Given the description of an element on the screen output the (x, y) to click on. 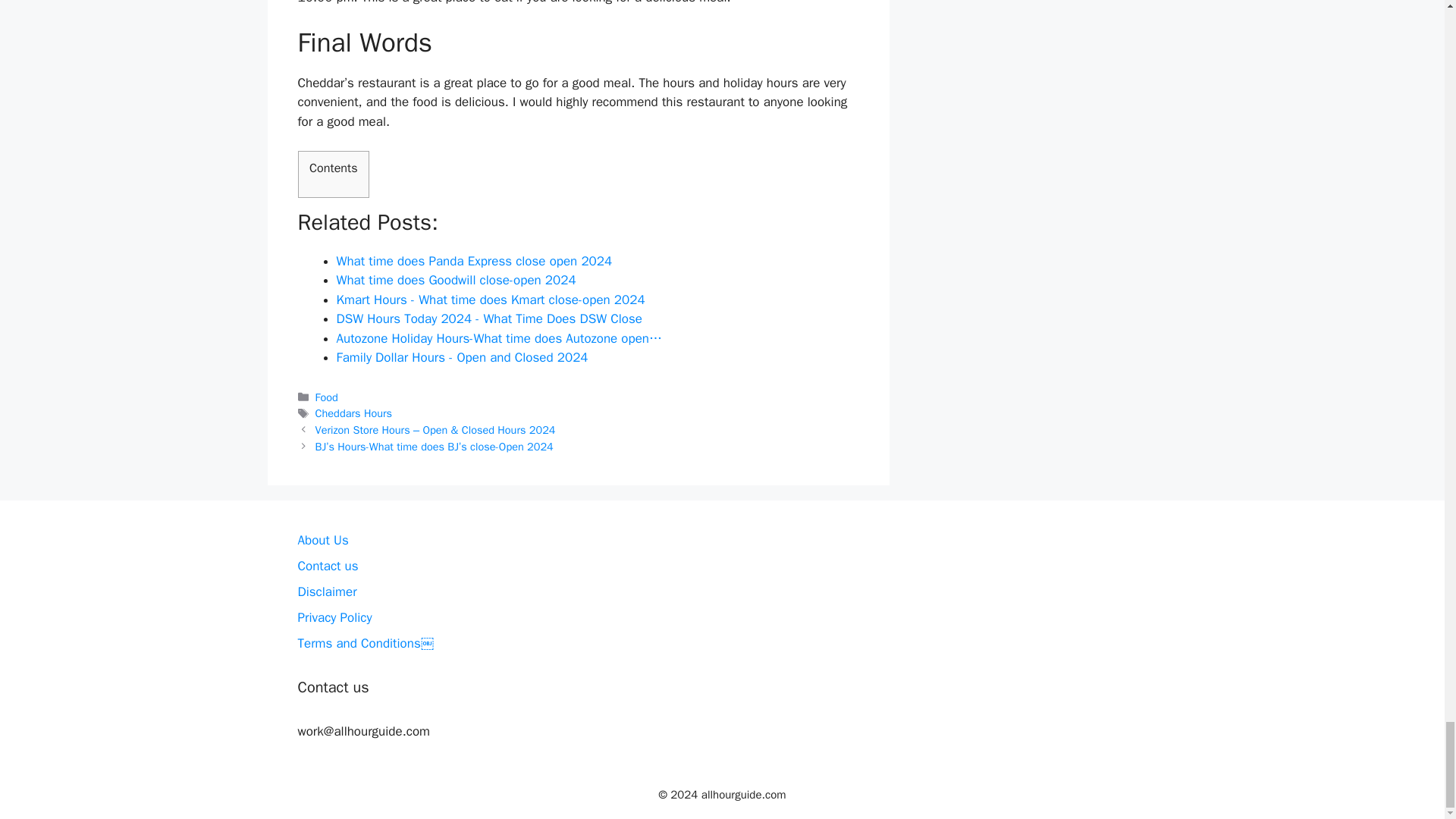
Food (326, 397)
Cheddars Hours (354, 413)
DSW Hours Today 2024 - What Time Does DSW Close (489, 318)
What time does Panda Express close open 2024 (474, 261)
Family Dollar Hours - Open and Closed 2024 (462, 357)
Contact us (327, 565)
About Us (322, 539)
What time does Goodwill close-open 2024 (456, 279)
Kmart Hours - What time does Kmart close-open 2024 (490, 299)
Disclaimer (326, 591)
Privacy Policy (334, 617)
